Given the description of an element on the screen output the (x, y) to click on. 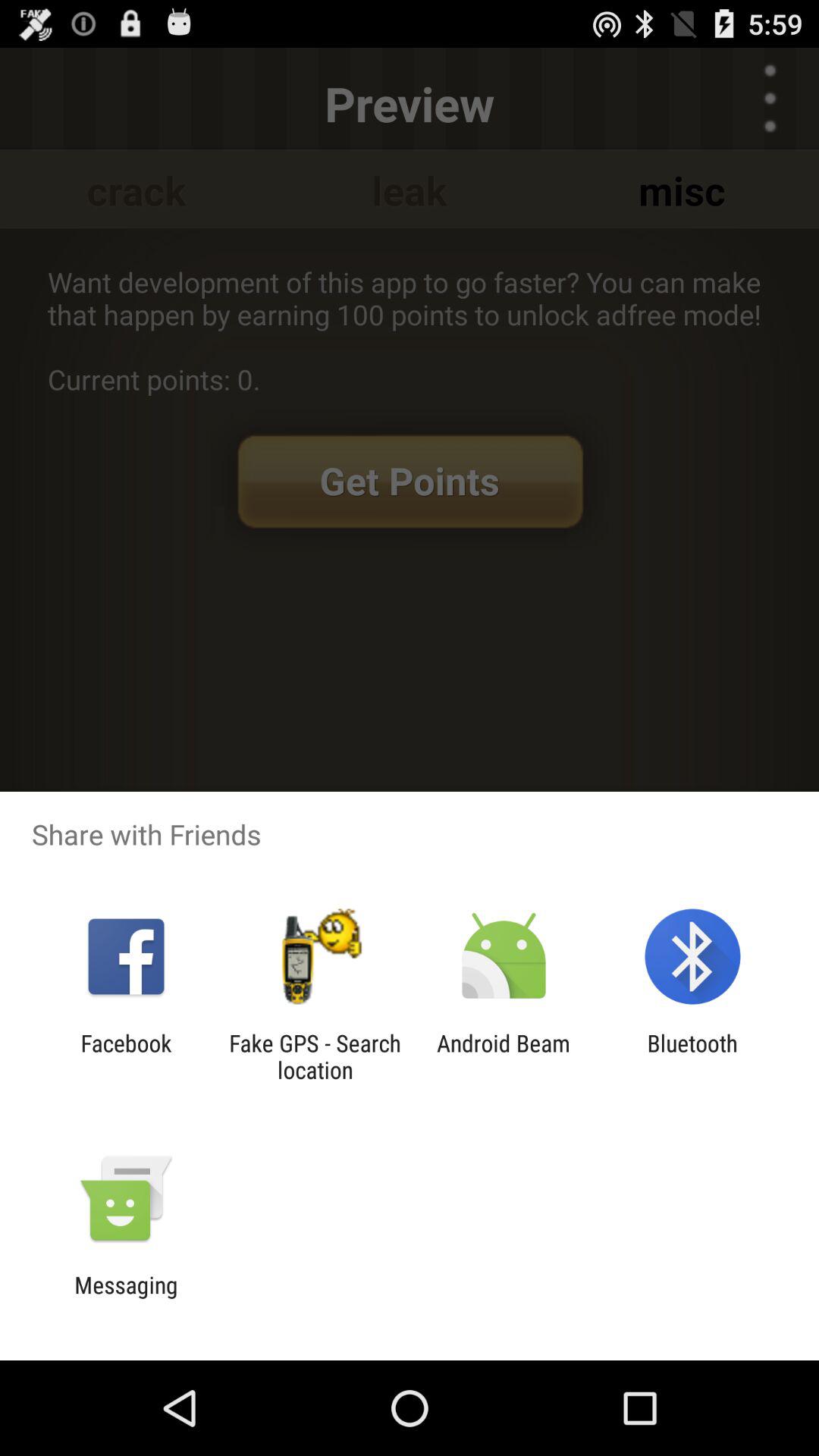
turn off bluetooth at the bottom right corner (692, 1056)
